Given the description of an element on the screen output the (x, y) to click on. 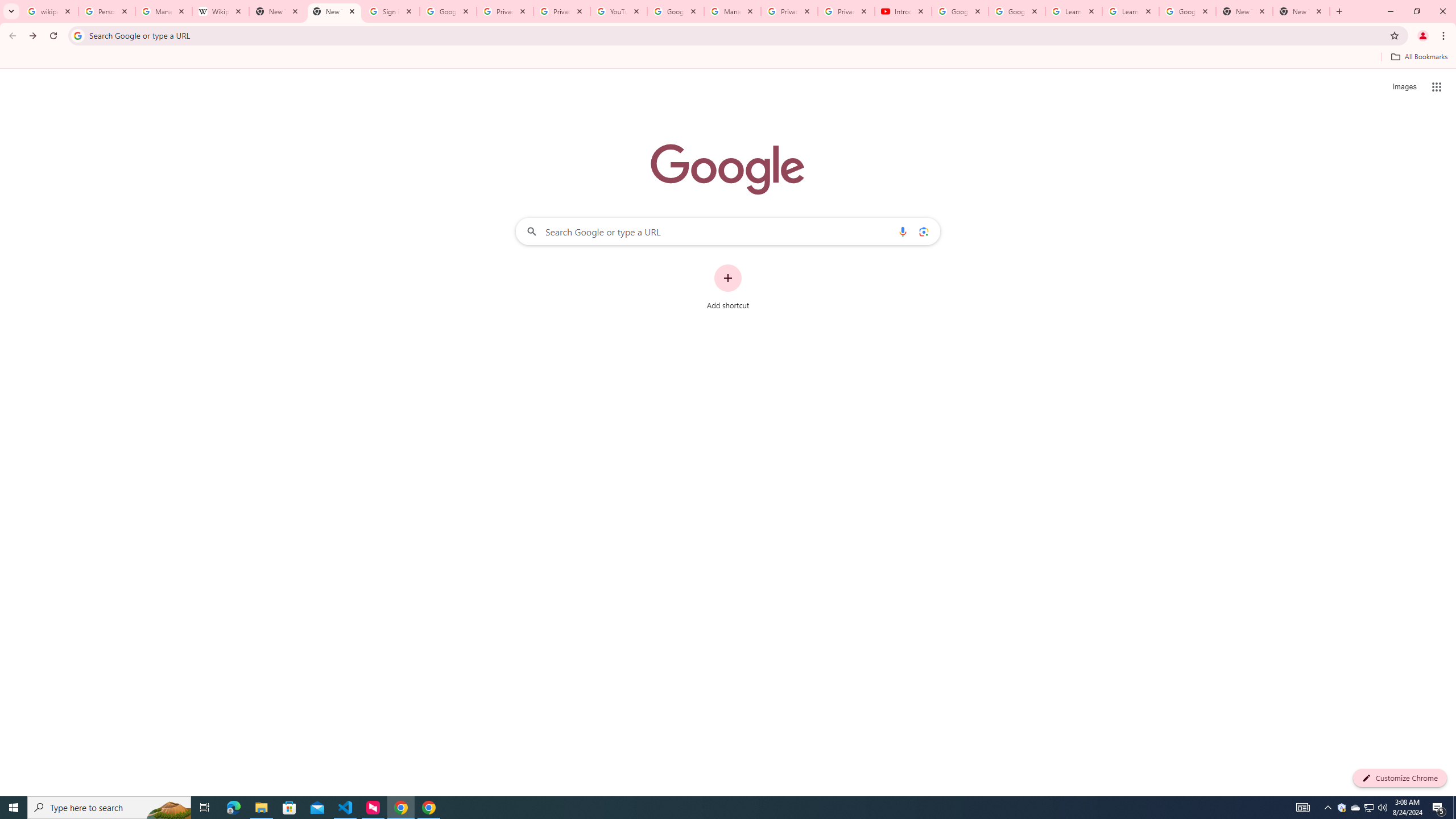
New Tab (1244, 11)
All Bookmarks (1418, 56)
YouTube (618, 11)
Wikipedia:Edit requests - Wikipedia (220, 11)
Search Google or type a URL (727, 230)
Introduction | Google Privacy Policy - YouTube (902, 11)
Search icon (77, 35)
Customize Chrome (1399, 778)
Manage your Location History - Google Search Help (163, 11)
Personalization & Google Search results - Google Search Help (105, 11)
